Given the description of an element on the screen output the (x, y) to click on. 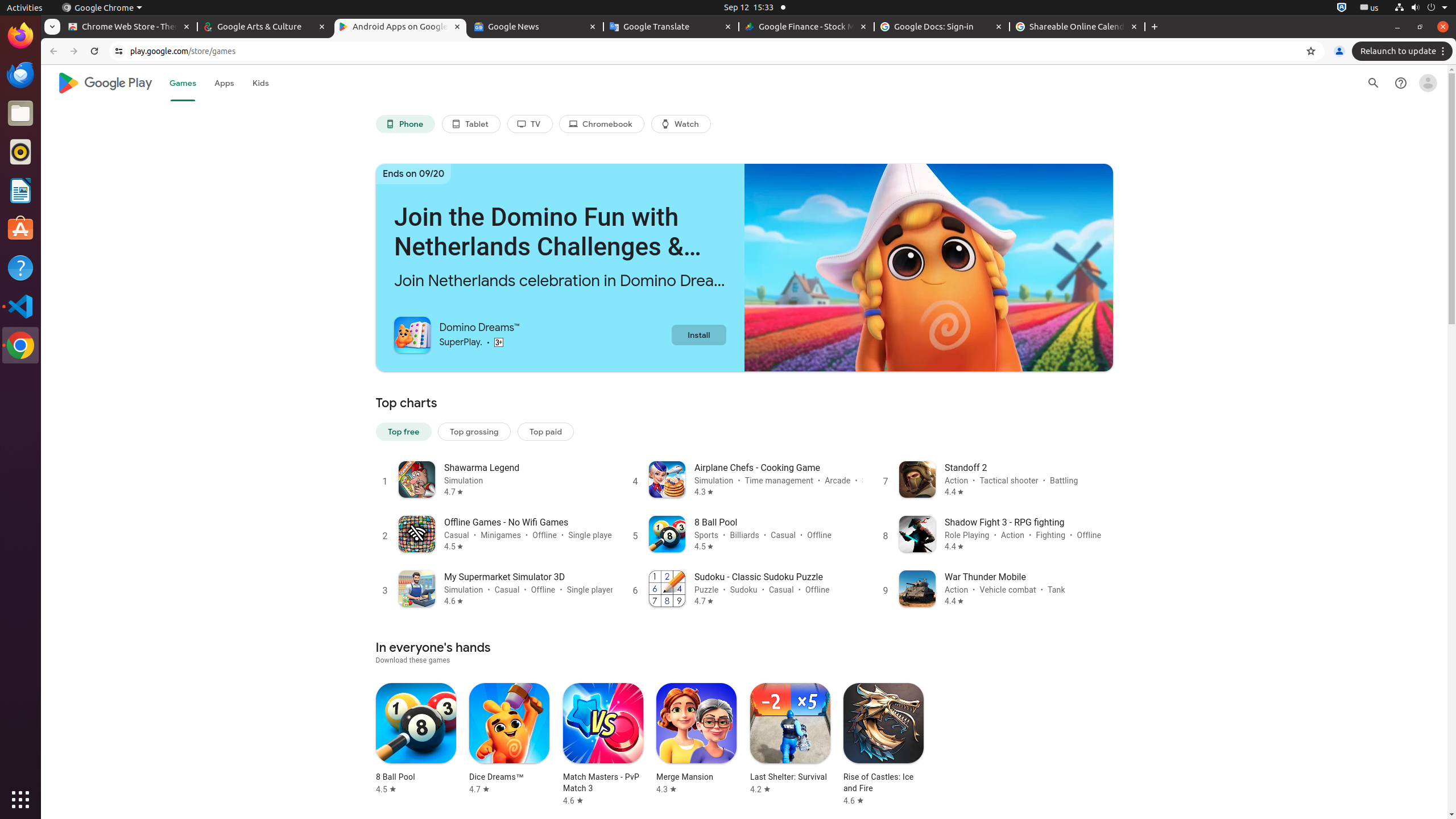
Open account menu Element type: push-button (1427, 82)
Help Element type: push-button (20, 267)
Rank 6 Sudoku - Classic Sudoku Puzzle Puzzle • Sudoku • Casual • Offline Rated 4.7 stars out of five stars Element type: link (743, 587)
System Element type: menu (1420, 7)
Last Shelter: Survival Rated 4.2 stars out of five stars Element type: link (789, 738)
